Given the description of an element on the screen output the (x, y) to click on. 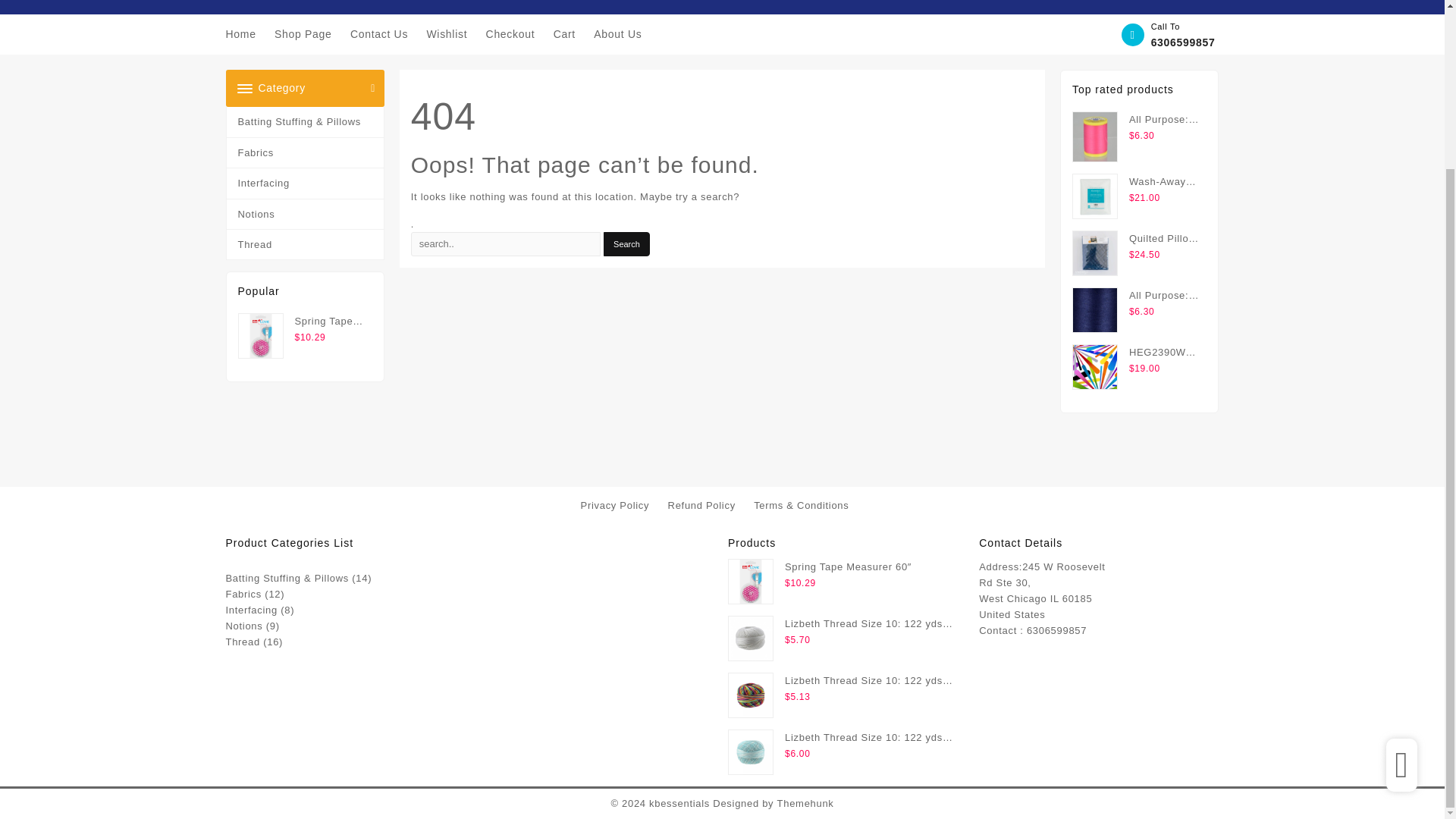
Home (247, 34)
Search (626, 243)
